Given the description of an element on the screen output the (x, y) to click on. 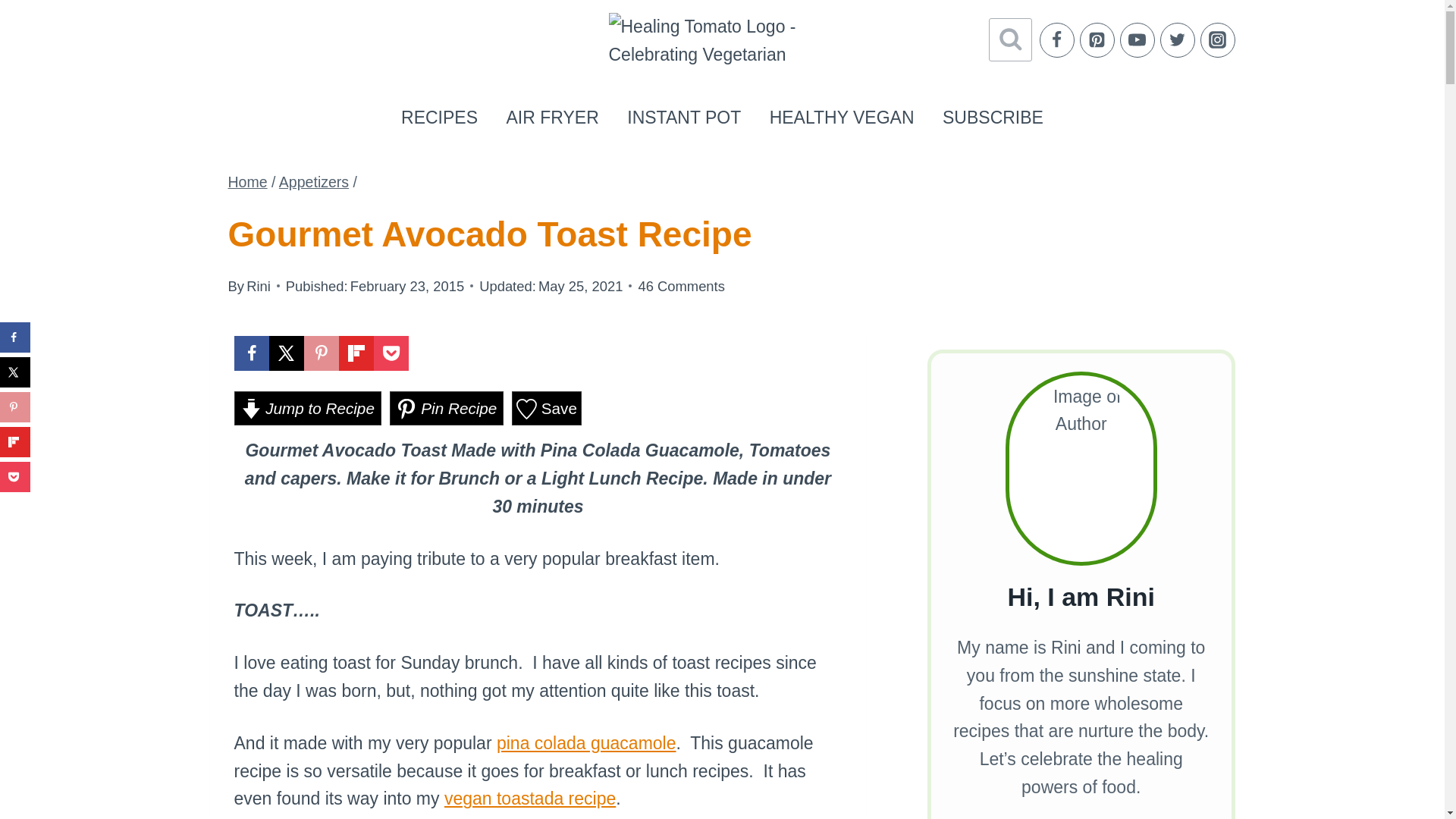
46 Comments (680, 286)
Share on Pocket (389, 353)
46 Comments (680, 286)
Pin Recipe (446, 408)
HEALTHY VEGAN (841, 117)
Save to Pinterest (319, 353)
Appetizers (314, 181)
Jump to Recipe (306, 408)
AIR FRYER (552, 117)
INSTANT POT (683, 117)
RECIPES (439, 117)
vegan toastada recipe (529, 798)
pina colada guacamole (586, 742)
Home (246, 181)
Rini (258, 286)
